Given the description of an element on the screen output the (x, y) to click on. 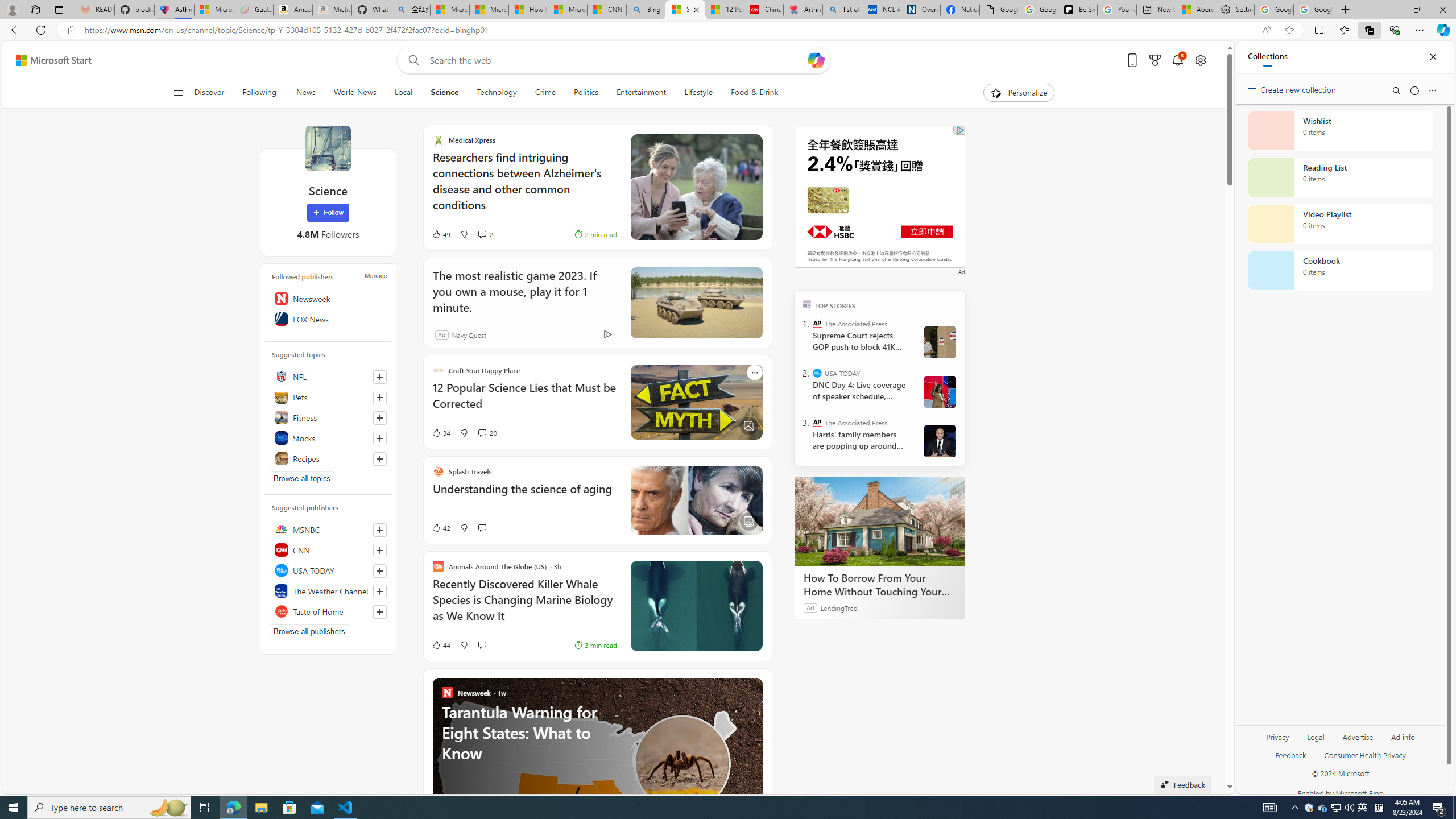
Understanding the science of aging (511, 494)
CNN (327, 549)
Science (327, 148)
Skip to content (49, 59)
NFL (327, 376)
Ad info (1402, 736)
Entertainment (641, 92)
Technology (496, 92)
